Given the description of an element on the screen output the (x, y) to click on. 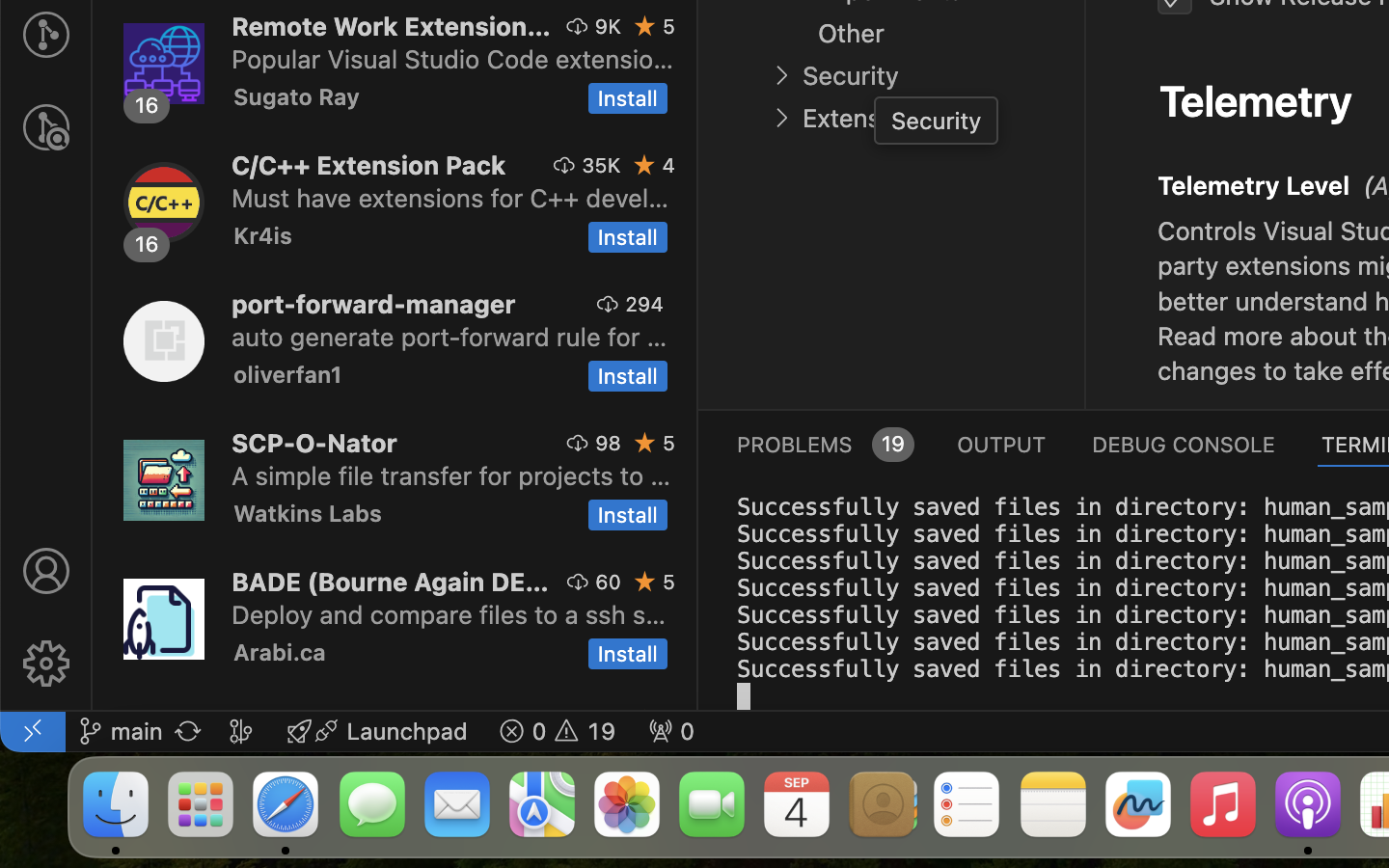
Deploy and compare files to a ssh server Element type: AXStaticText (449, 613)
9K Element type: AXStaticText (607, 25)
16 Element type: AXStaticText (147, 243)
Kr4is Element type: AXStaticText (263, 234)
Sugato Ray Element type: AXStaticText (296, 95)
